Given the description of an element on the screen output the (x, y) to click on. 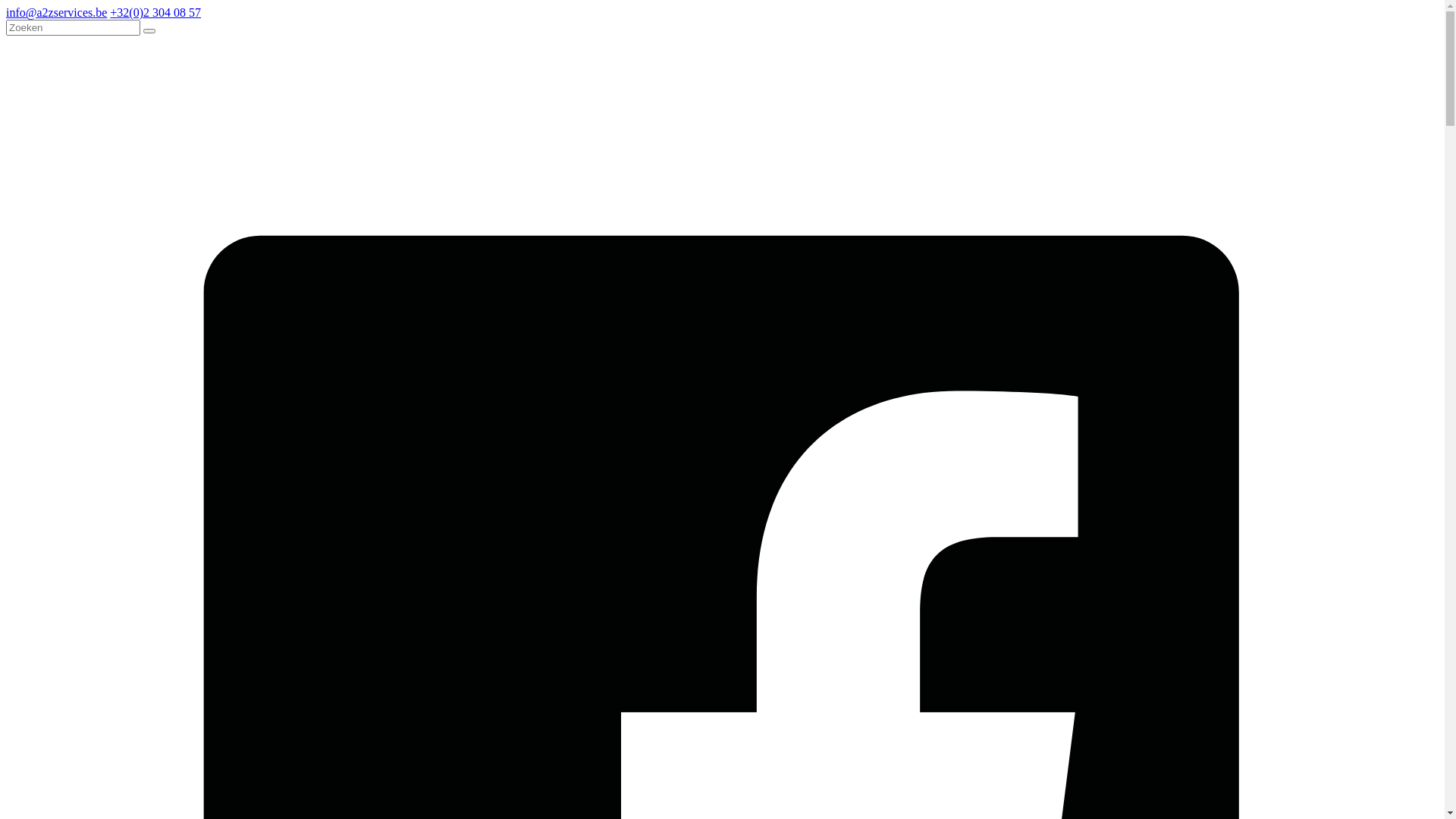
info@a2zservices.be Element type: text (56, 12)
+32(0)2 304 08 57 Element type: text (154, 12)
